Given the description of an element on the screen output the (x, y) to click on. 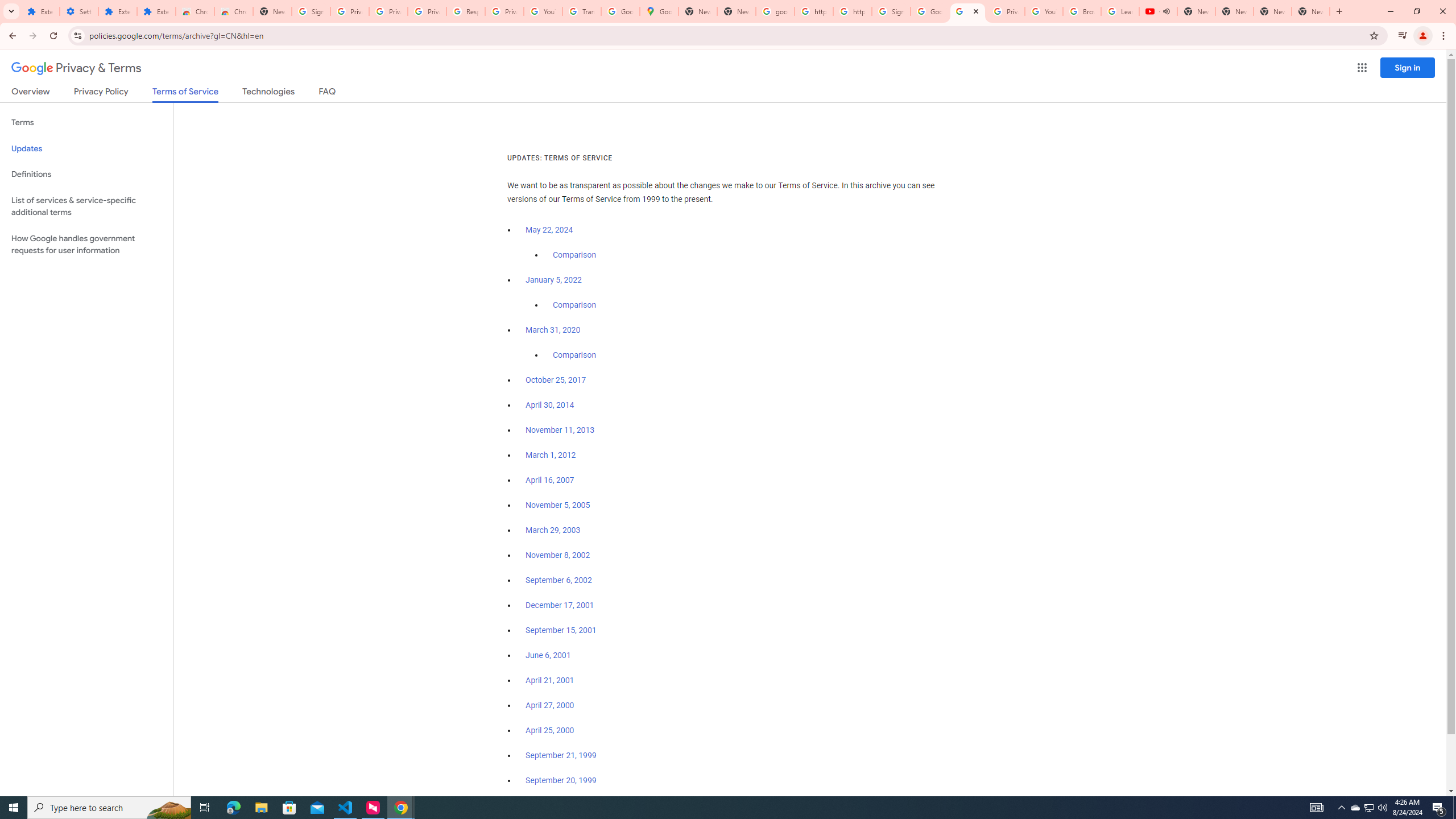
September 20, 1999 (560, 780)
April 16, 2007 (550, 480)
New Tab (272, 11)
November 11, 2013 (560, 430)
March 1, 2012 (550, 455)
September 21, 1999 (560, 755)
Extensions (117, 11)
